Given the description of an element on the screen output the (x, y) to click on. 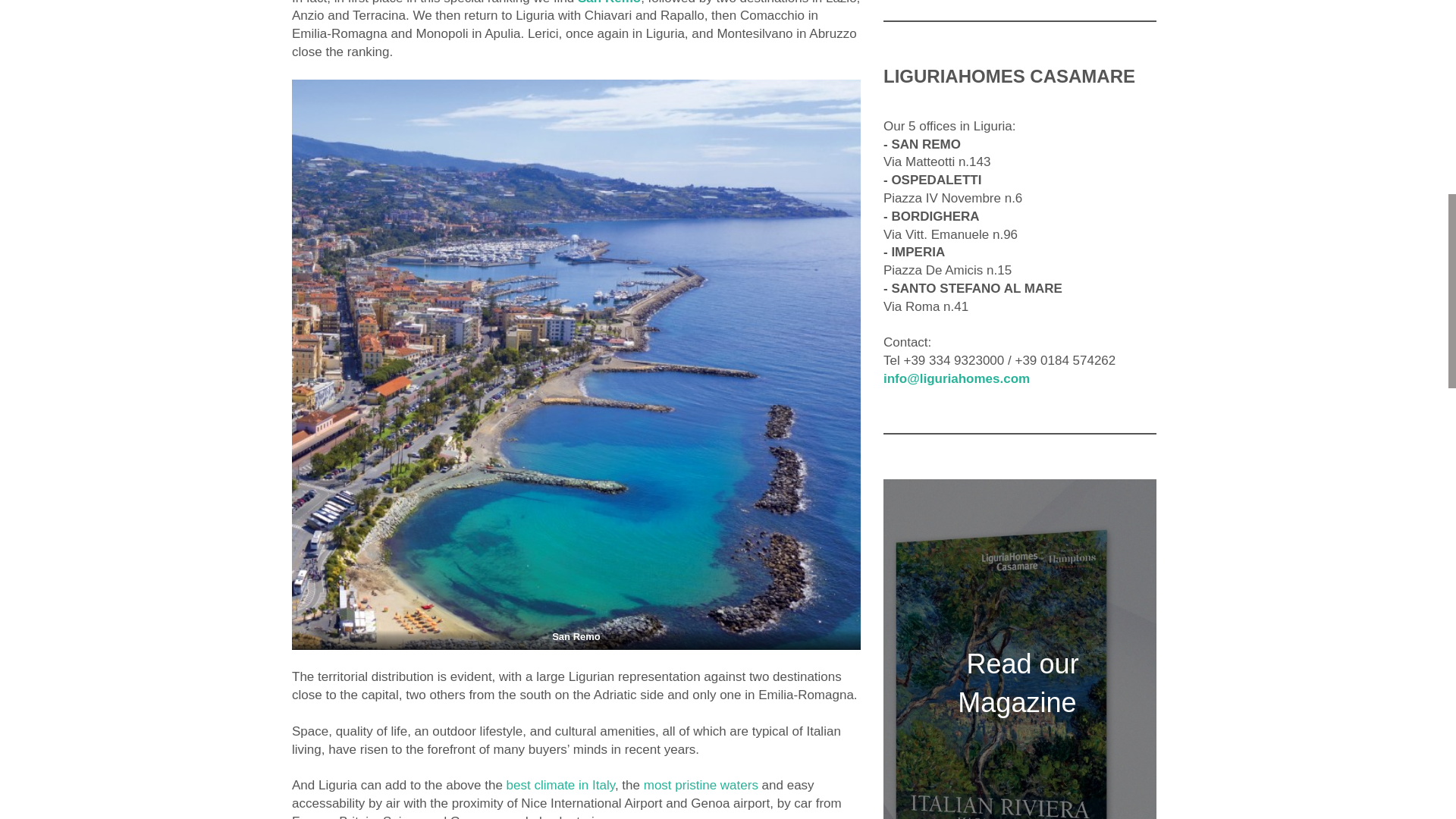
San Remo (609, 2)
most pristine waters (700, 785)
San Remo (609, 2)
best climate in Italy (560, 785)
best climate in Italy (560, 785)
most pristine waters (700, 785)
